Given the description of an element on the screen output the (x, y) to click on. 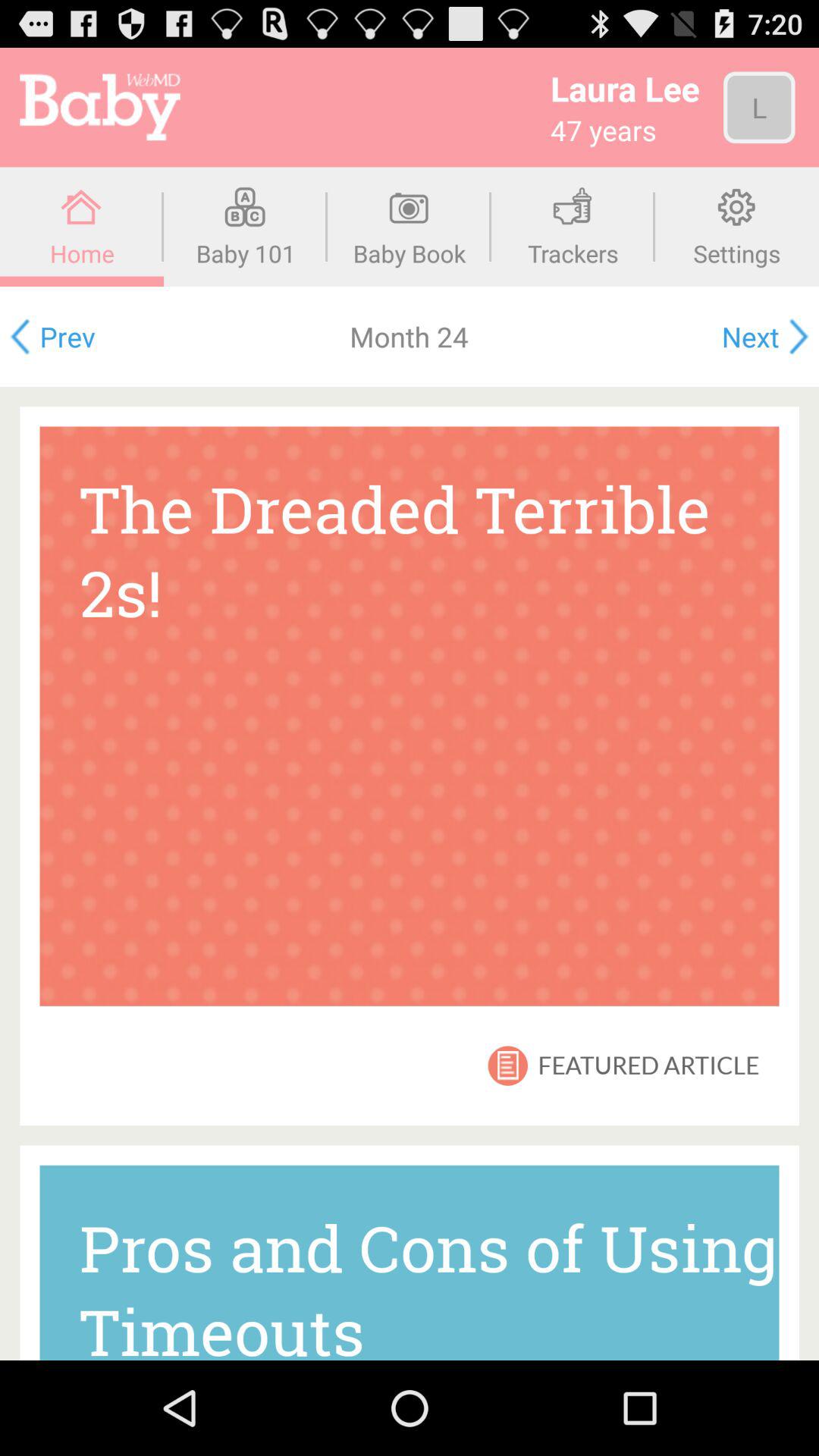
tap icon above pros and cons item (507, 1065)
